Given the description of an element on the screen output the (x, y) to click on. 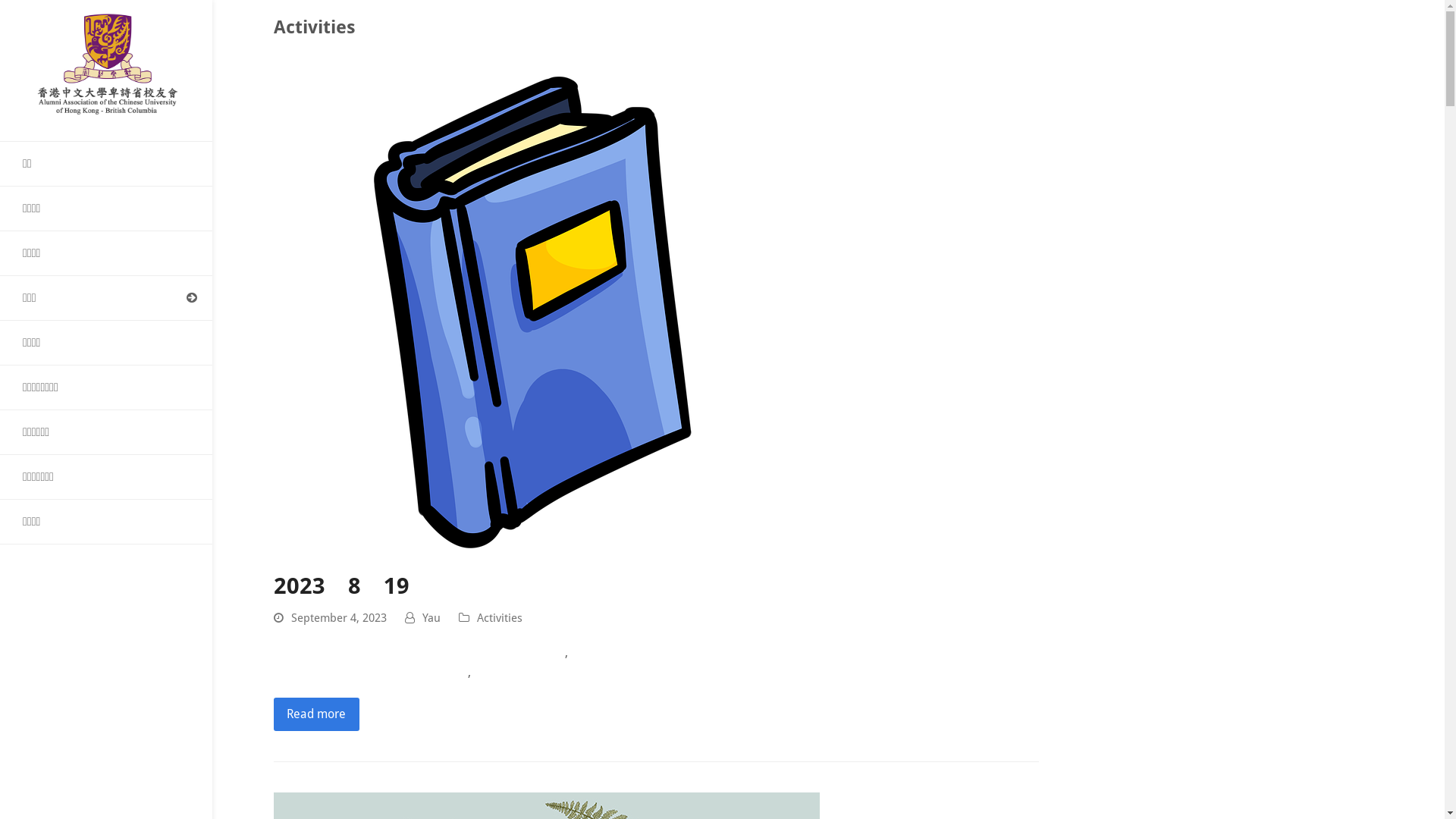
Yau Element type: text (431, 617)
Activities Element type: text (499, 617)
Read more Element type: text (315, 714)
